Given the description of an element on the screen output the (x, y) to click on. 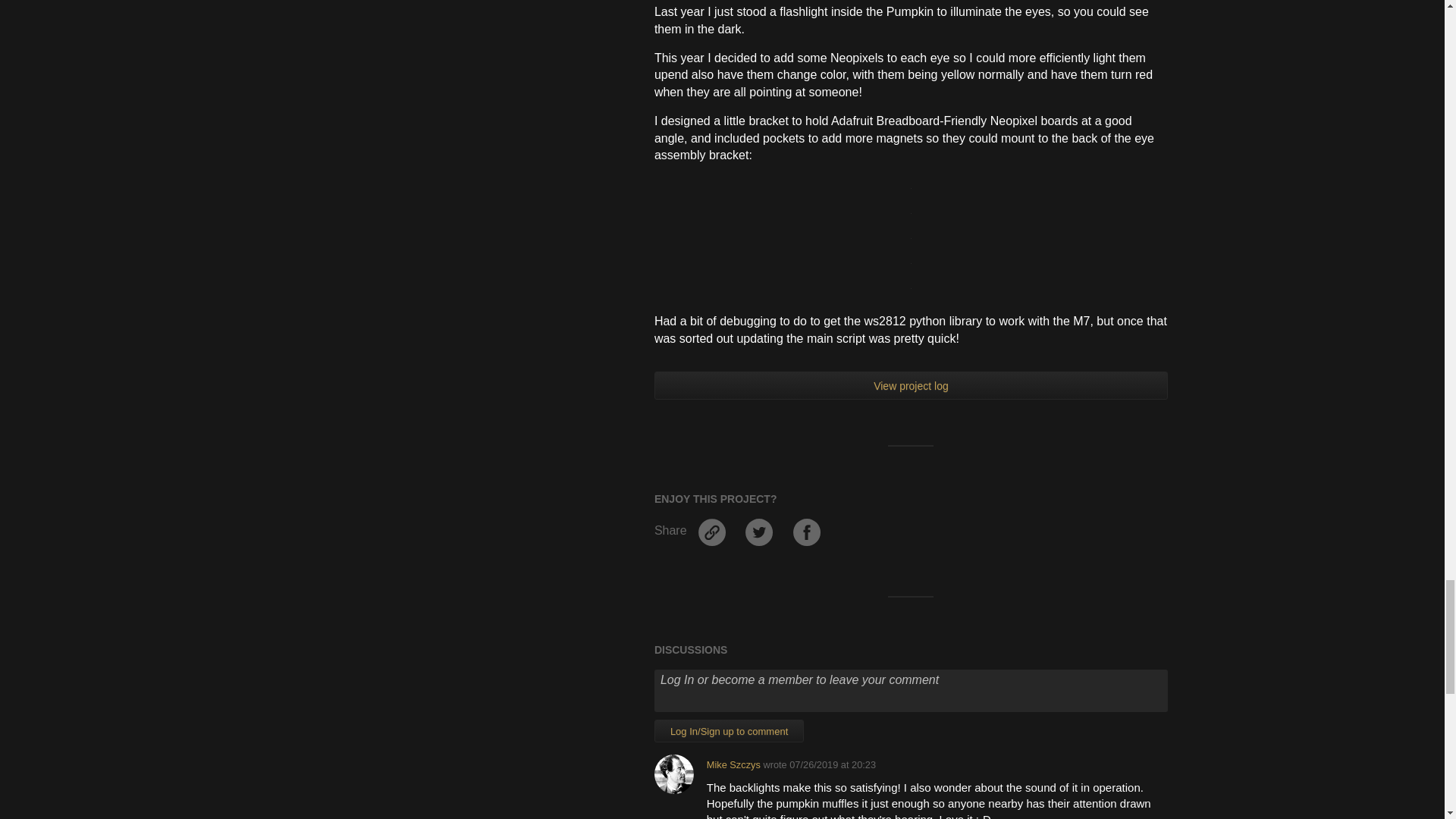
5 years ago (832, 764)
